Given the description of an element on the screen output the (x, y) to click on. 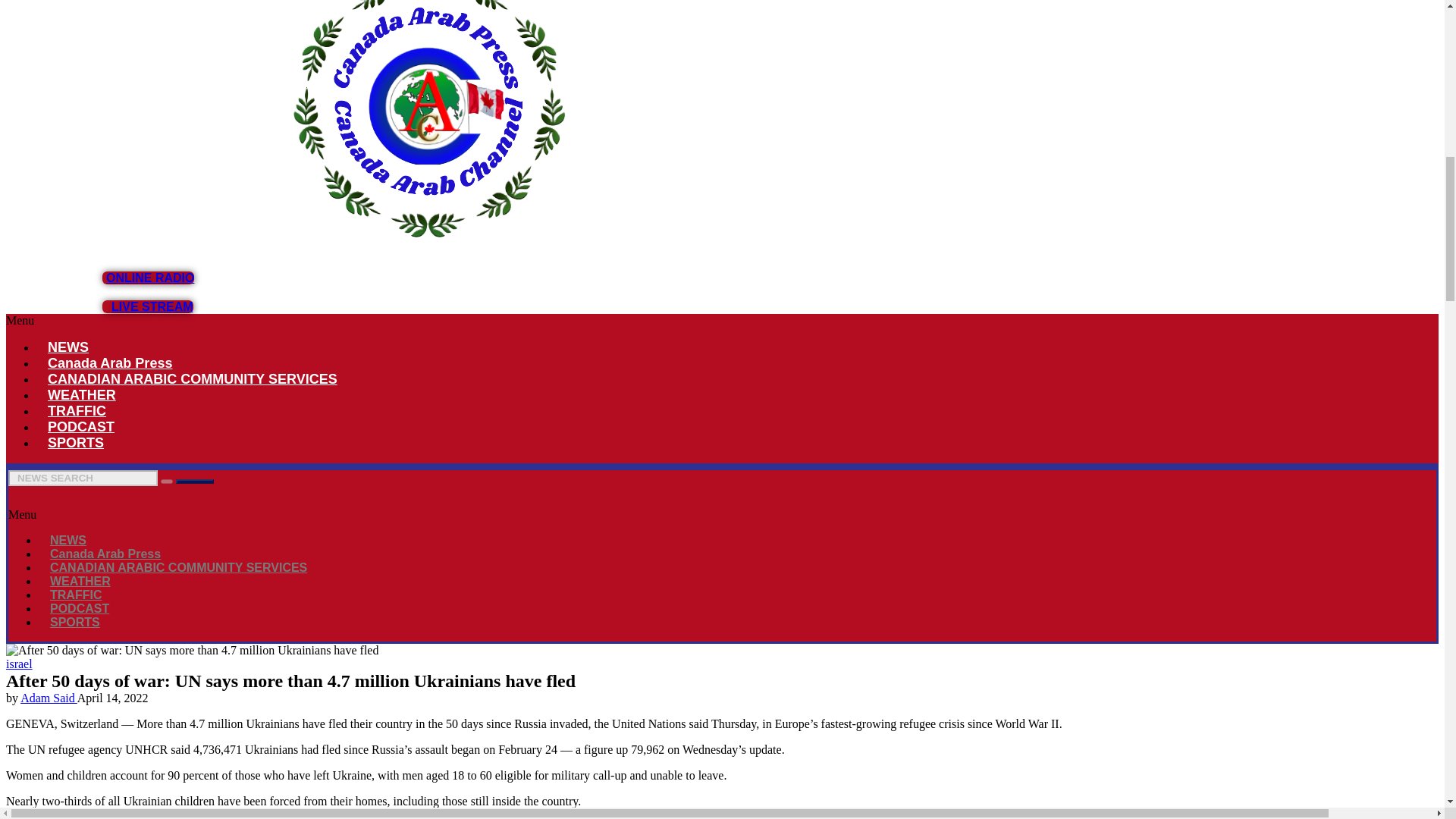
NEWS (68, 347)
ONLINE RADIO (147, 277)
Canada Arab Press (109, 362)
Canada Arab Press (105, 553)
WEATHER (82, 394)
CANADIAN ARABIC COMMUNITY SERVICES (192, 379)
SPORTS (75, 442)
TRAFFIC (76, 410)
NEWS (68, 539)
PODCAST (80, 426)
